Given the description of an element on the screen output the (x, y) to click on. 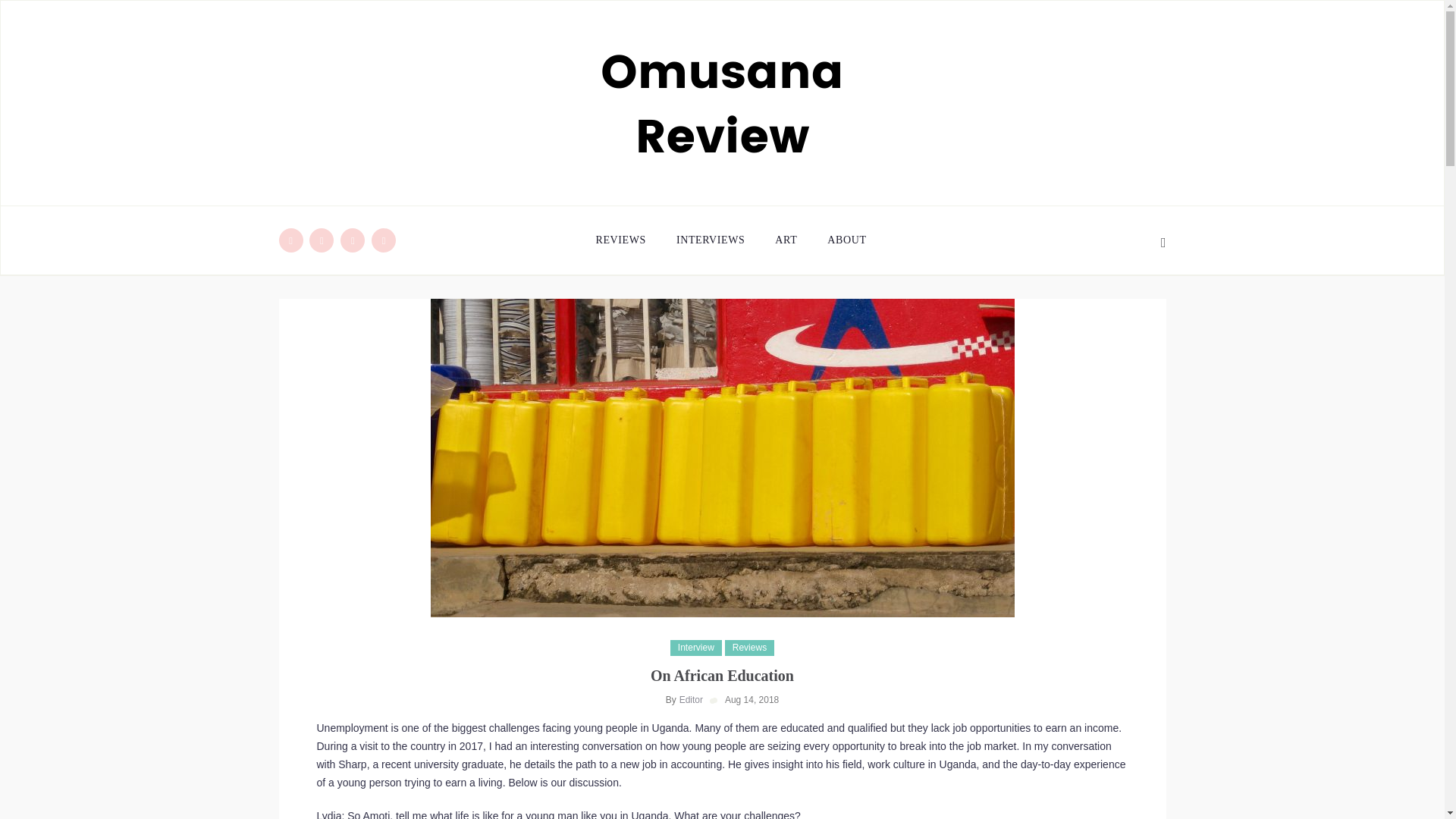
Interview (695, 647)
ABOUT (846, 240)
REVIEWS (628, 240)
INTERVIEWS (710, 240)
Editor (691, 699)
Reviews (749, 647)
